Given the description of an element on the screen output the (x, y) to click on. 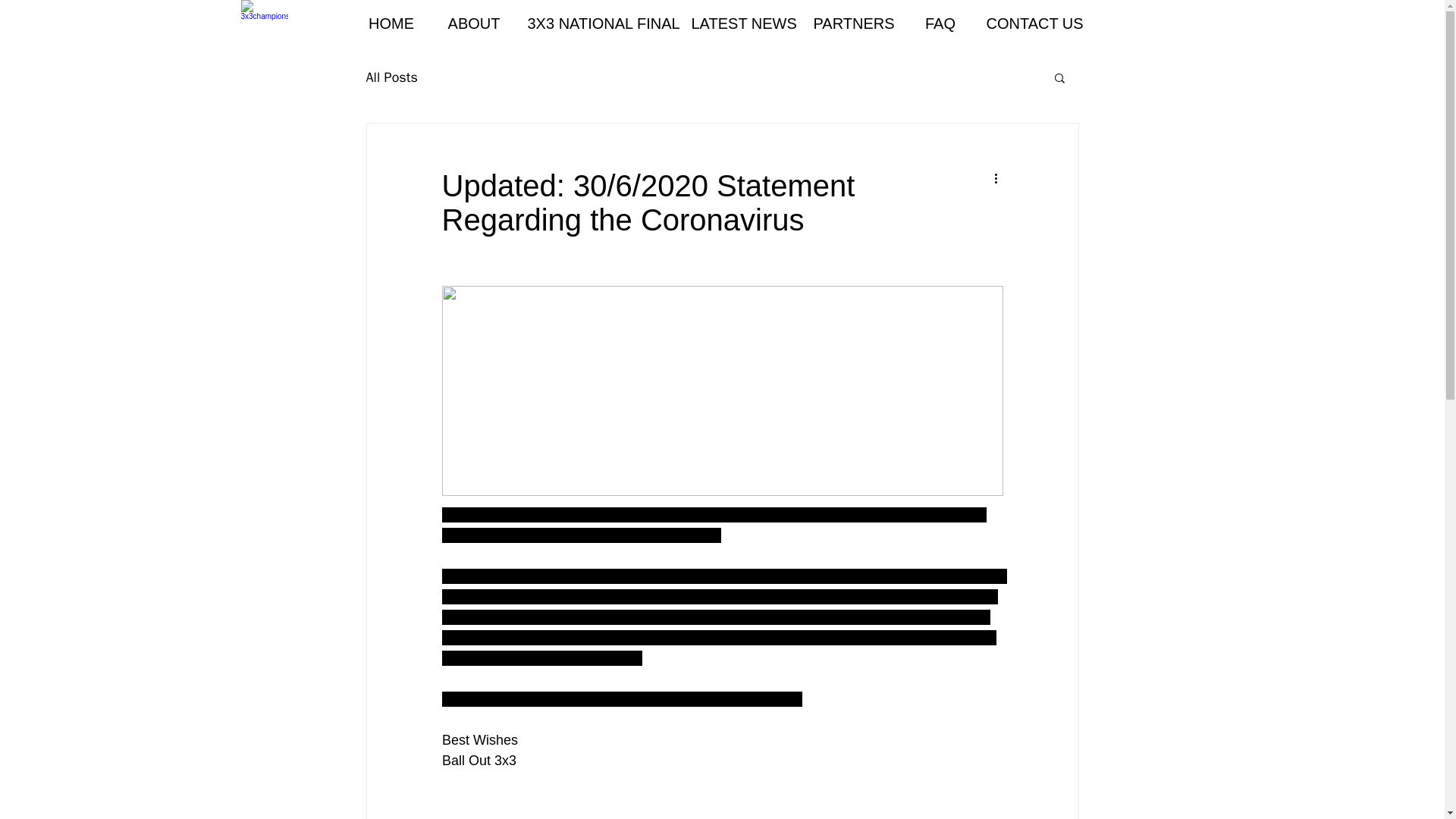
HOME (390, 23)
LATEST NEWS (740, 23)
CONTACT US (1032, 23)
ABOUT (474, 23)
FAQ (939, 23)
All Posts (390, 76)
3X3 NATIONAL FINAL (597, 23)
PARTNERS (853, 23)
